Given the description of an element on the screen output the (x, y) to click on. 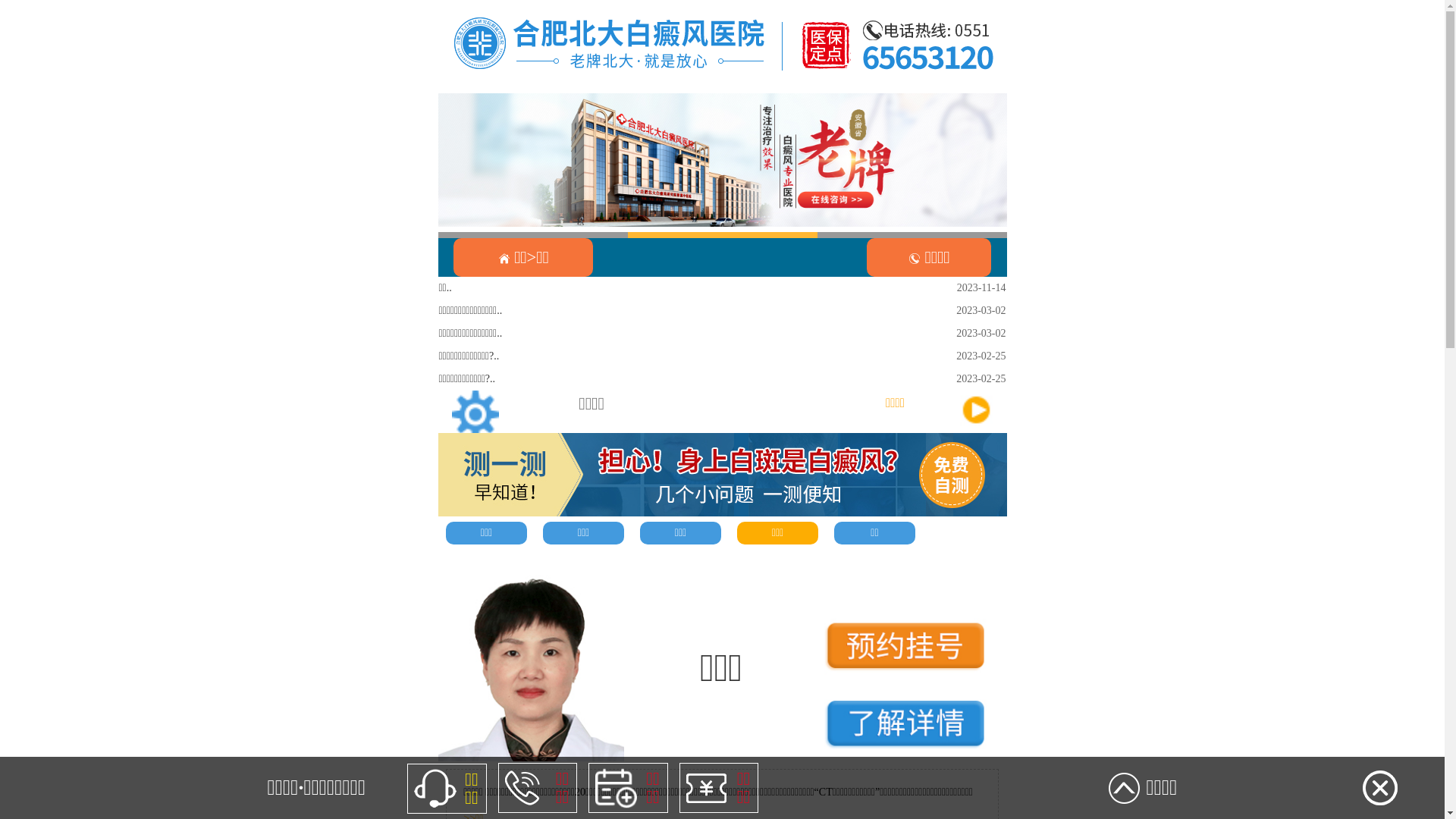
logo Element type: hover (722, 45)
